Given the description of an element on the screen output the (x, y) to click on. 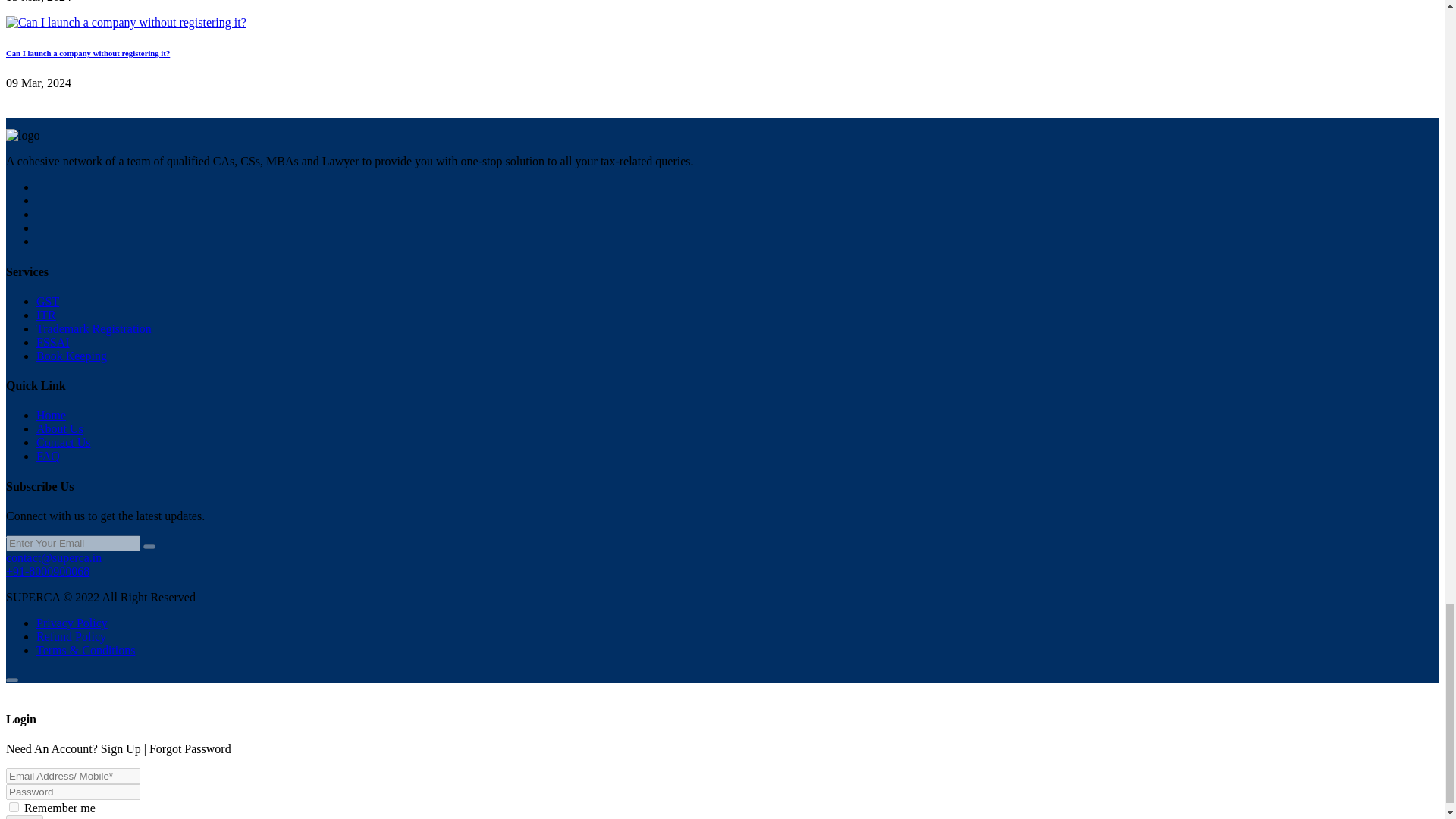
on (13, 807)
